Given the description of an element on the screen output the (x, y) to click on. 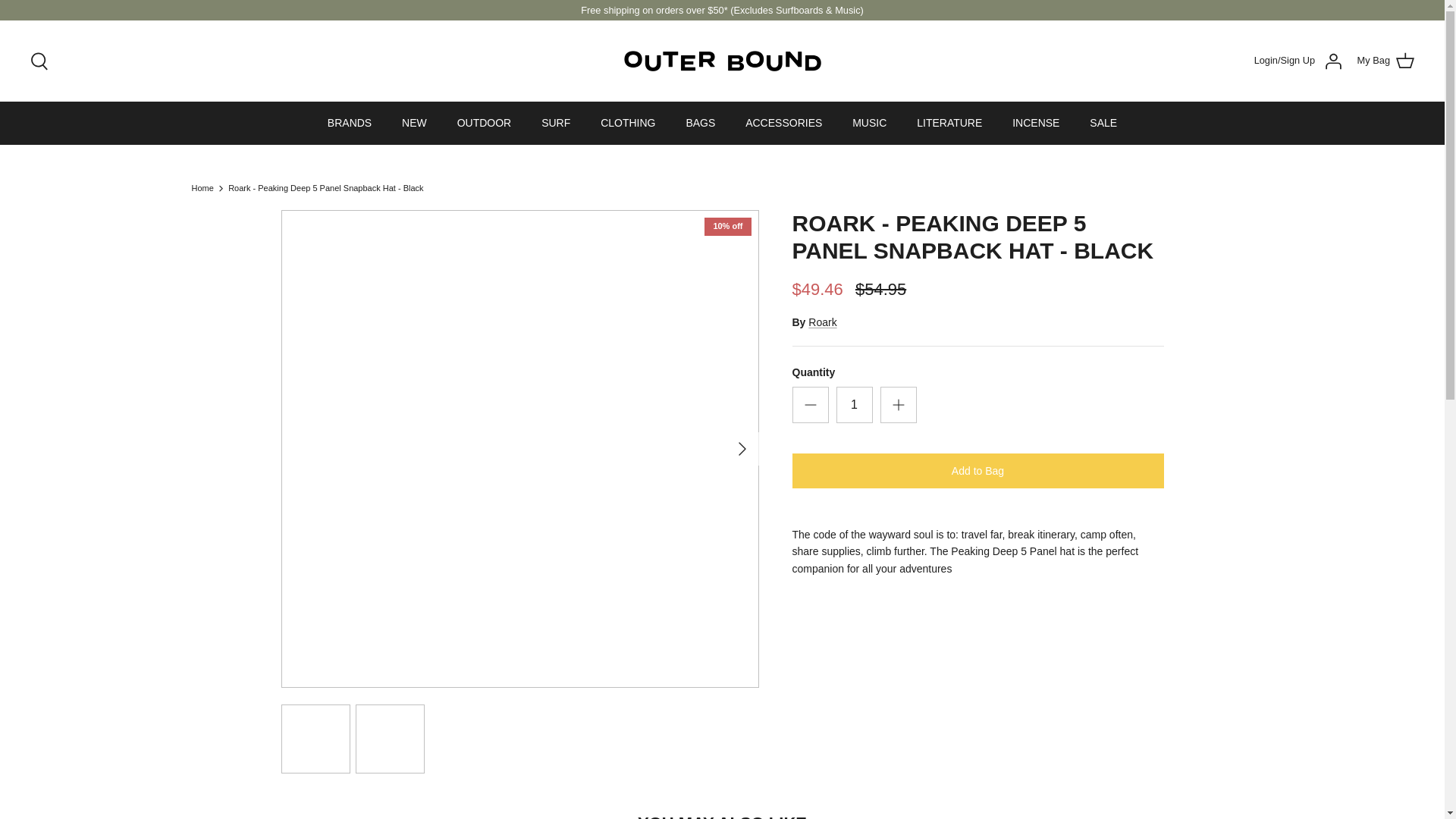
My Bag (1384, 61)
BRANDS (349, 122)
Right (741, 448)
Plus (897, 404)
1 (853, 404)
OUTERBOUND (722, 60)
Minus (809, 404)
